Given the description of an element on the screen output the (x, y) to click on. 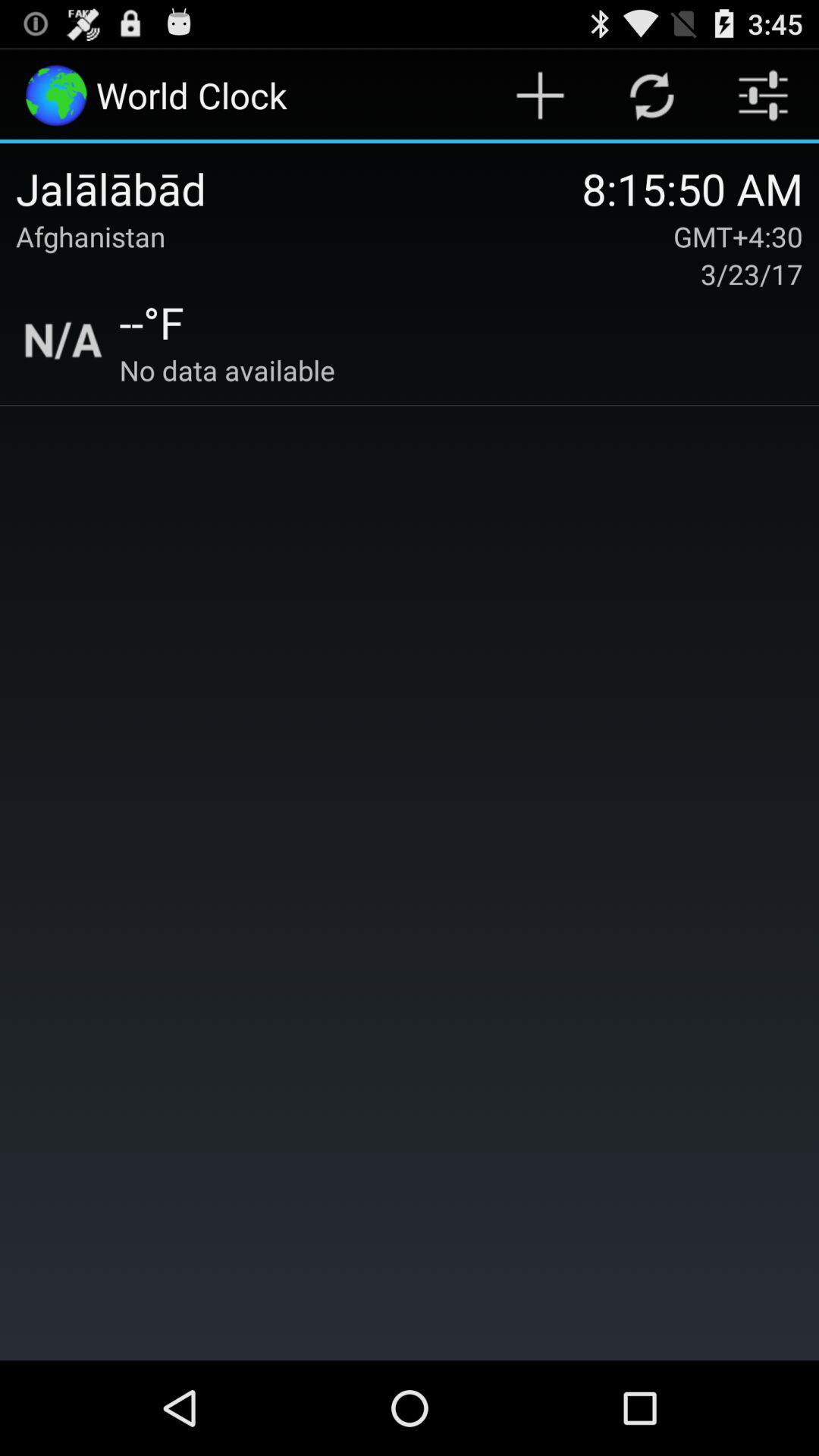
jump to 8 15 50 icon (692, 188)
